Given the description of an element on the screen output the (x, y) to click on. 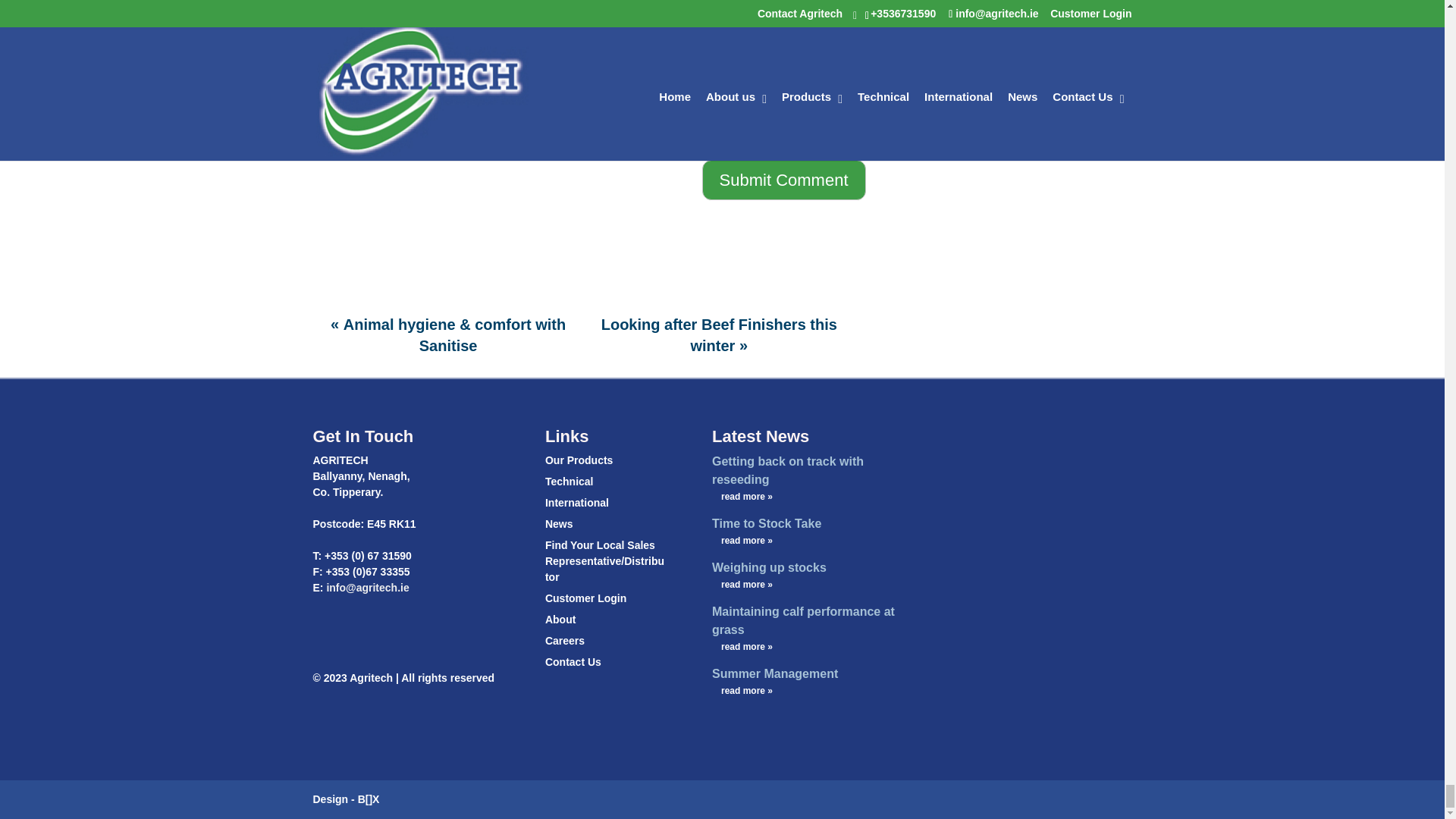
Branding and Design (369, 799)
Submit Comment (783, 179)
